Given the description of an element on the screen output the (x, y) to click on. 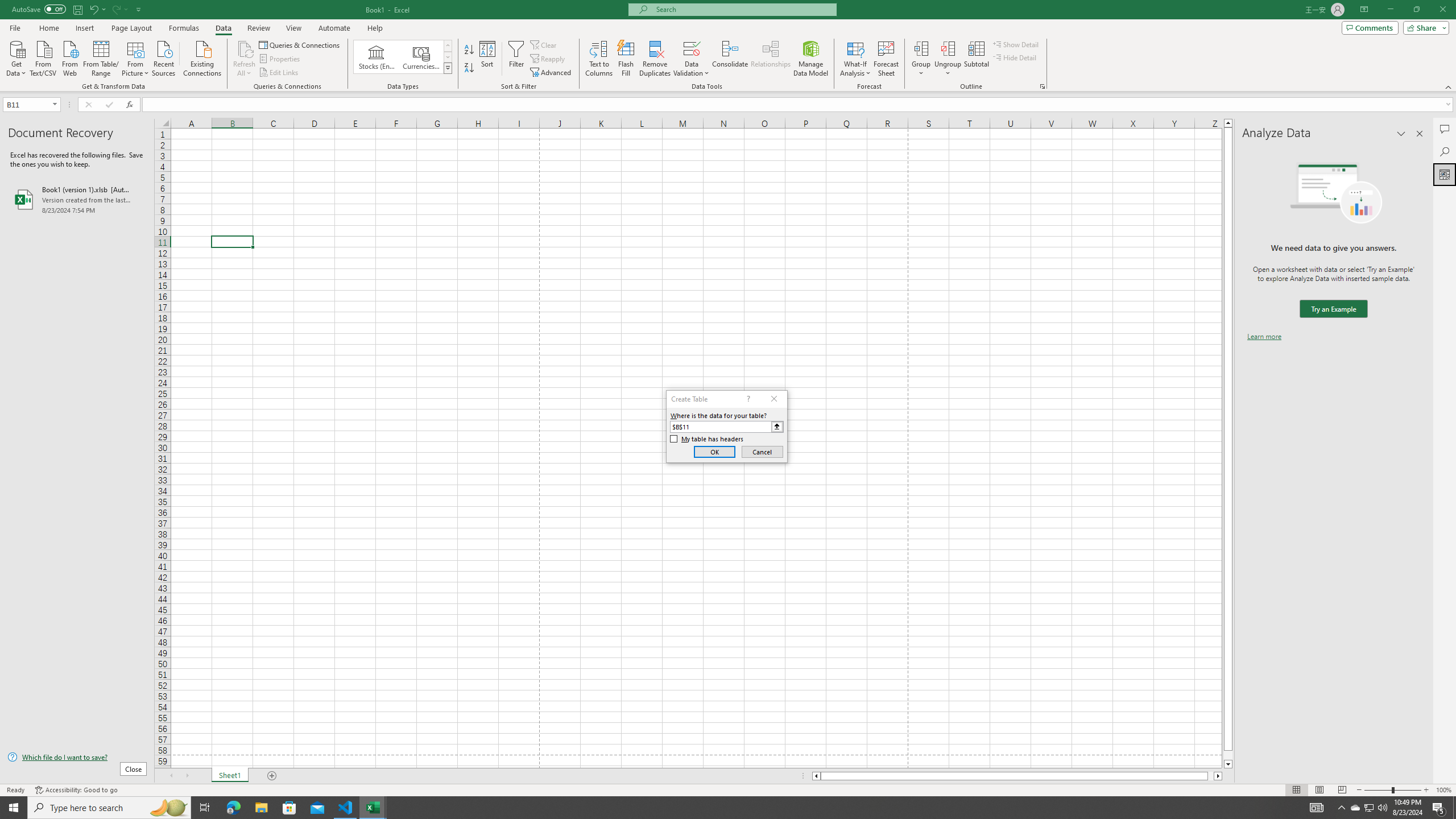
Recent Sources (163, 57)
Queries & Connections (300, 44)
Text to Columns... (598, 58)
Hide Detail (1014, 56)
Reapply (548, 58)
Remove Duplicates (654, 58)
Subtotal (976, 58)
From Table/Range (100, 57)
Manage Data Model (810, 58)
